Given the description of an element on the screen output the (x, y) to click on. 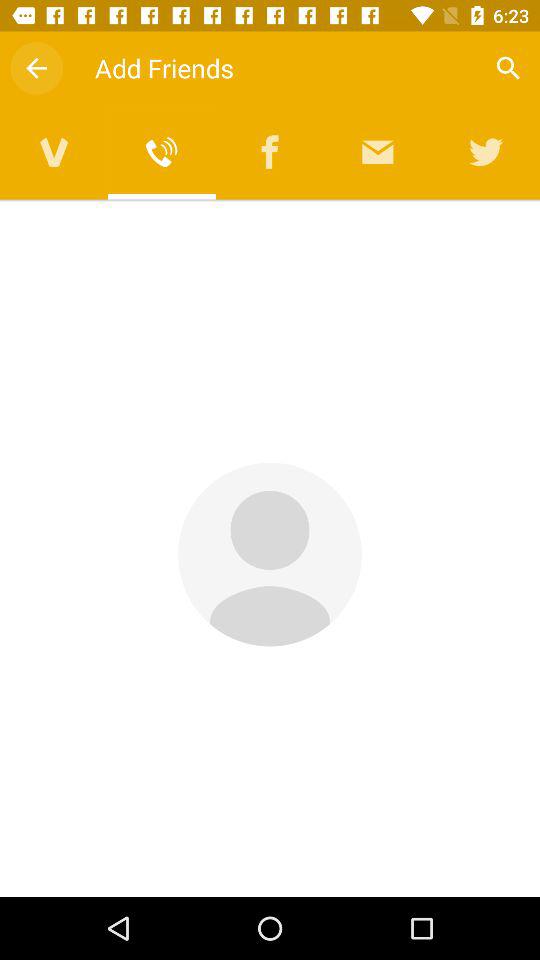
video calling (54, 152)
